Given the description of an element on the screen output the (x, y) to click on. 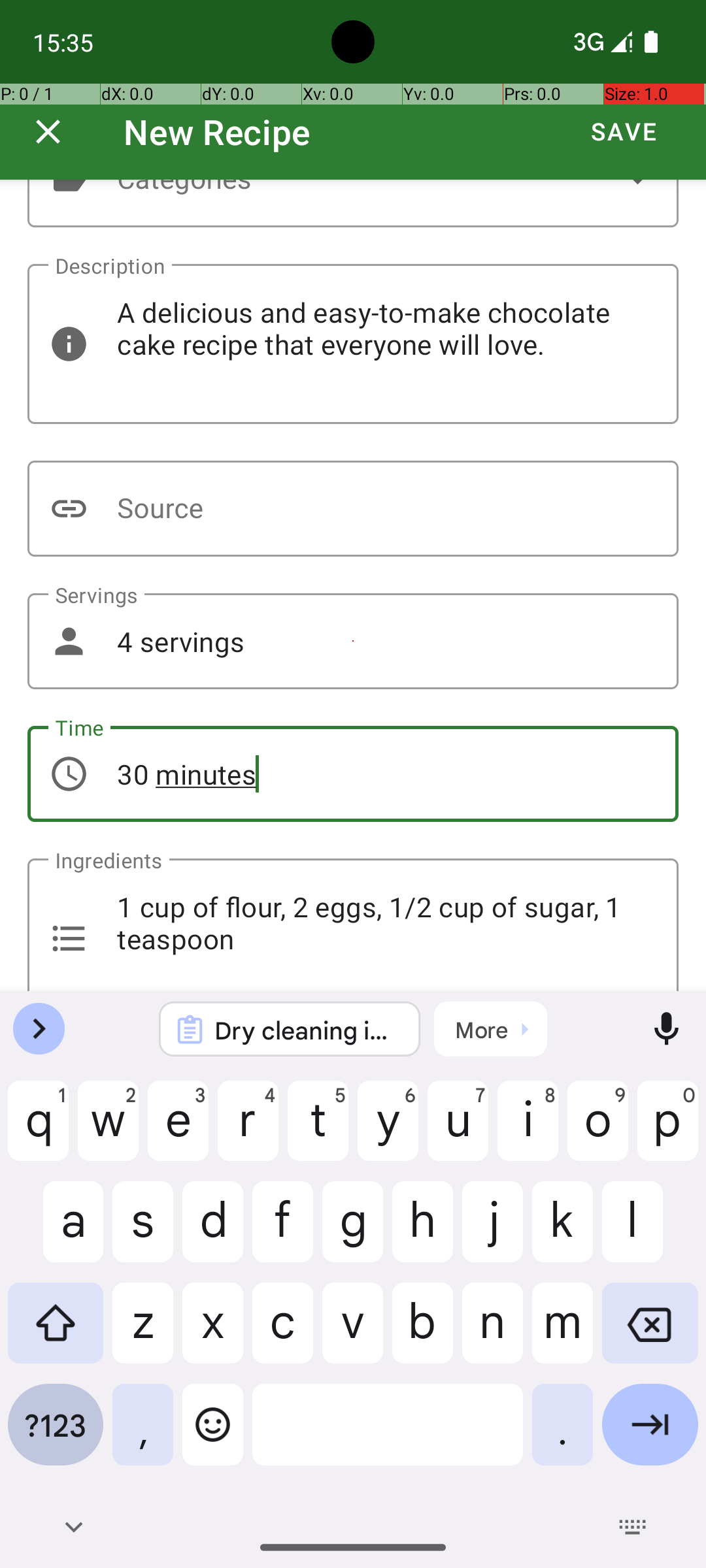
A delicious and easy-to-make chocolate cake recipe that everyone will love.
 Element type: android.widget.EditText (352, 343)
4 servings Element type: android.widget.EditText (352, 641)
30 minutes Element type: android.widget.EditText (352, 773)
1 cup of flour, 2 eggs, 1/2 cup of sugar, 1 teaspoon
 Element type: android.widget.EditText (352, 924)
Dry cleaning is ready for pick-up. Element type: android.widget.TextView (306, 1029)
